Given the description of an element on the screen output the (x, y) to click on. 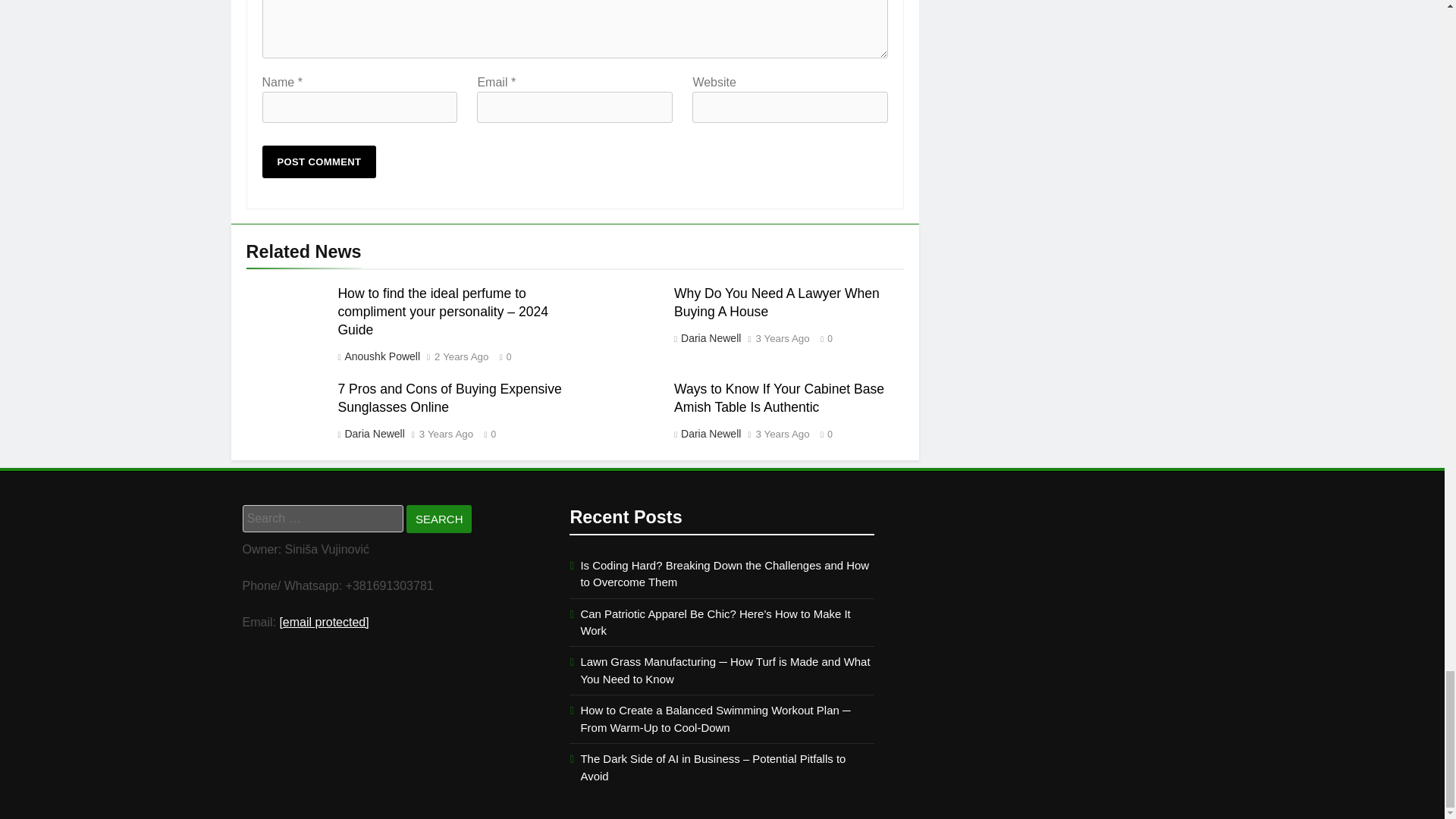
Post Comment (319, 161)
Search (438, 519)
Search (438, 519)
Post Comment (319, 161)
